Given the description of an element on the screen output the (x, y) to click on. 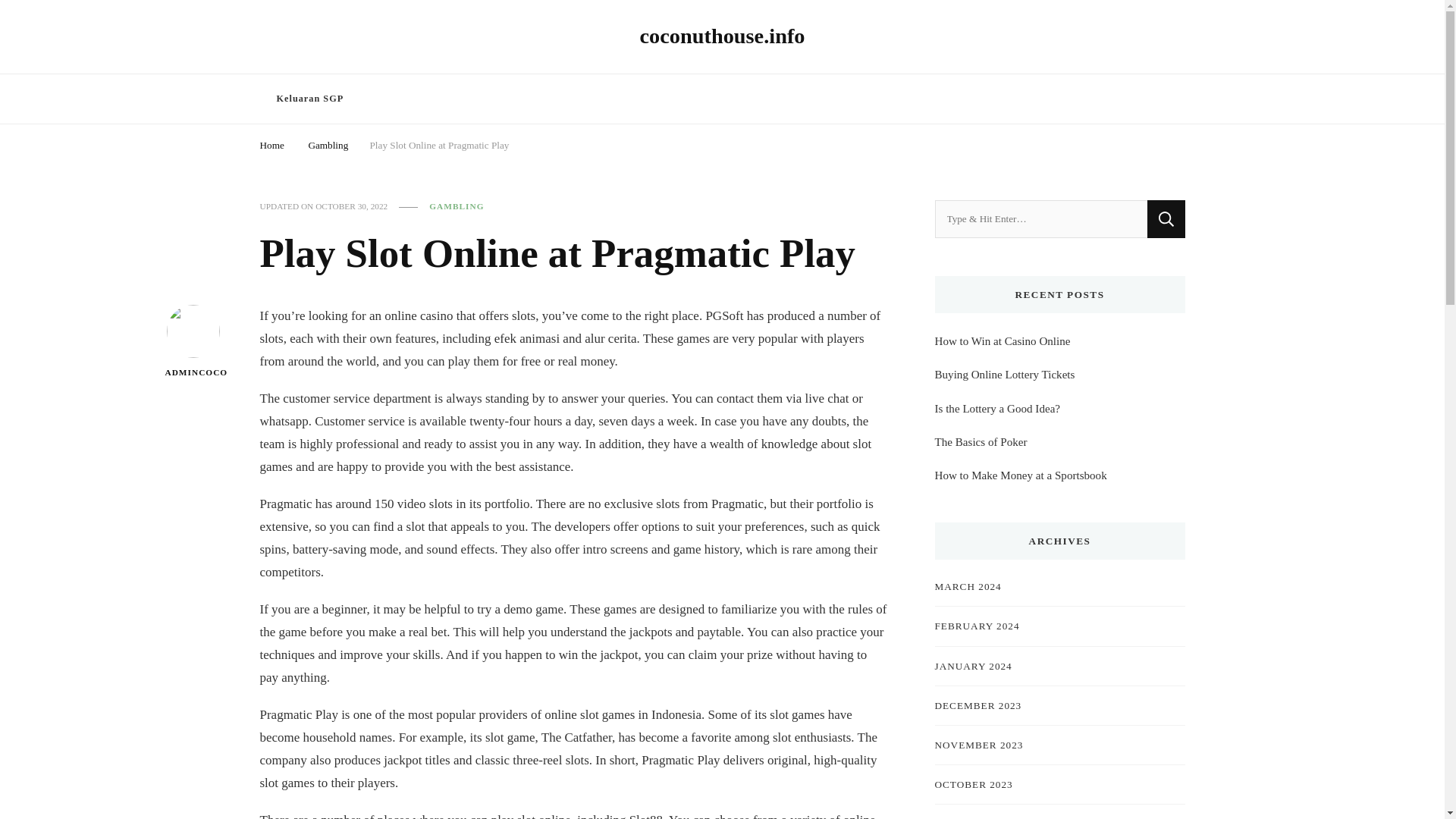
Search (1166, 218)
Search (1166, 218)
Gambling (327, 143)
OCTOBER 2023 (972, 784)
Buying Online Lottery Tickets (1004, 374)
SEPTEMBER 2023 (979, 817)
Is the Lottery a Good Idea? (996, 408)
The Basics of Poker (980, 442)
MARCH 2024 (967, 586)
Search (1148, 100)
